Given the description of an element on the screen output the (x, y) to click on. 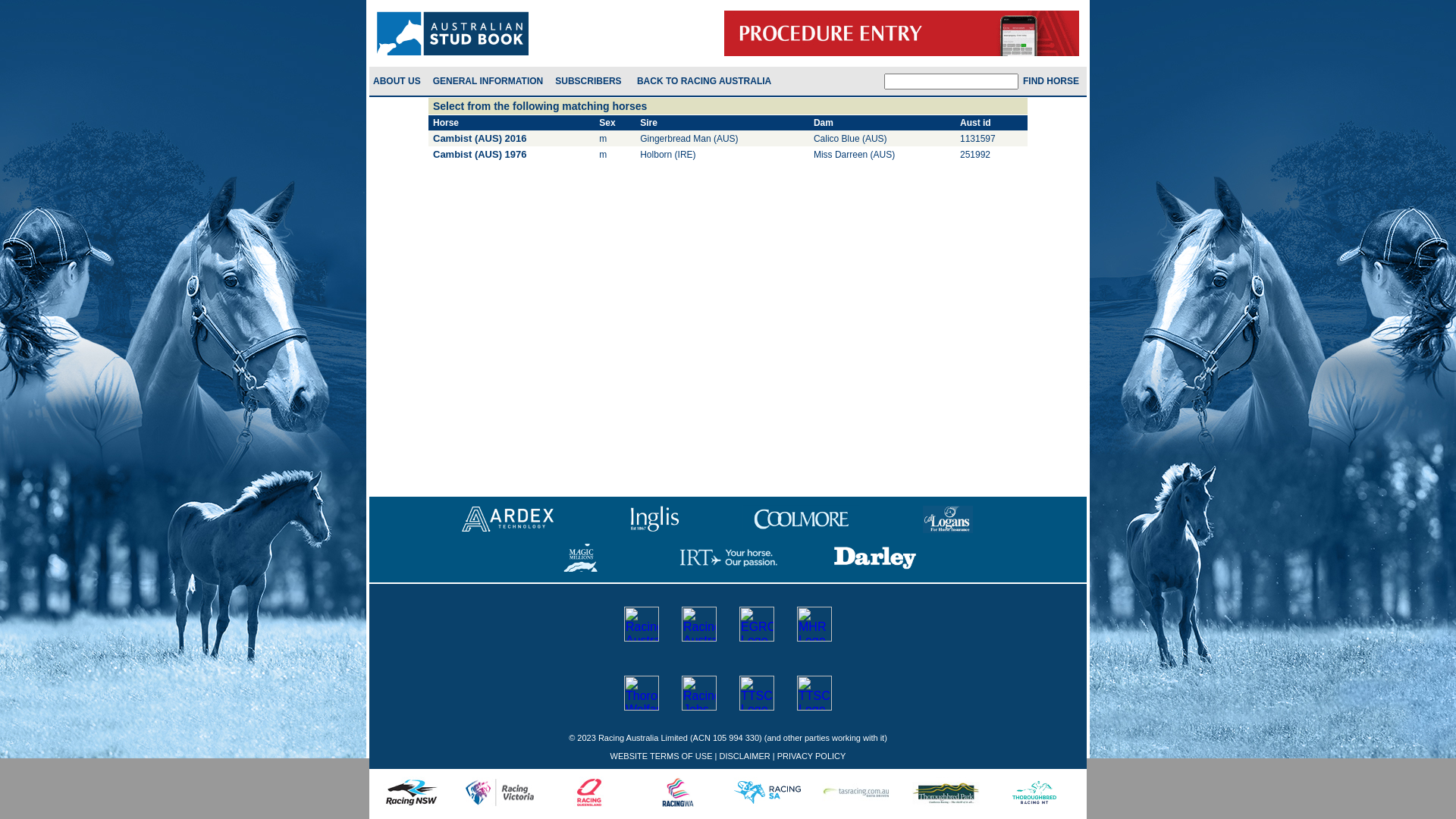
IRT Element type: hover (727, 557)
ACT Element type: hover (945, 792)
RacingVIC Element type: hover (499, 792)
Find Horse Element type: text (1052, 81)
Thoroughbred Welfare Element type: hover (641, 692)
Racing Australia Element type: hover (641, 623)
Cambist (AUS) 1976 Element type: text (480, 154)
Coolmore Element type: hover (800, 519)
WEBSITE TERMS OF USE Element type: text (661, 755)
Logans Element type: hover (947, 519)
DISCLAIMER Element type: text (743, 755)
RWWA Element type: hover (677, 792)
NT Element type: hover (1034, 792)
Racing Australia Element type: hover (452, 33)
TTSC Element type: hover (756, 692)
SUBSCRIBERS Element type: text (589, 81)
Cambist (AUS) 2016 Element type: text (480, 138)
RacingSA Element type: hover (767, 792)
Racing Jobs Element type: hover (698, 692)
TTSC Element type: hover (814, 692)
MHR Element type: hover (814, 623)
EGRC Element type: hover (756, 623)
GENERAL INFORMATION Element type: text (490, 81)
Enter horse name, Aust. Id. or microchip number for horse Element type: hover (1052, 81)
Inglis Element type: hover (654, 518)
Magic-Millions Element type: hover (580, 557)
TASRacing Element type: hover (856, 792)
RacingQLD Element type: hover (589, 792)
Ardex Technology Element type: hover (507, 518)
Enter horse name, Aust. Id. or microchip number for horse Element type: hover (951, 80)
PRIVACY POLICY Element type: text (811, 755)
RacingNSW Element type: hover (410, 792)
Australian Stud Book Element type: hover (698, 623)
Back to Racing Australia Element type: text (705, 81)
ABOUT US Element type: text (396, 80)
Darley Element type: hover (874, 557)
